Given the description of an element on the screen output the (x, y) to click on. 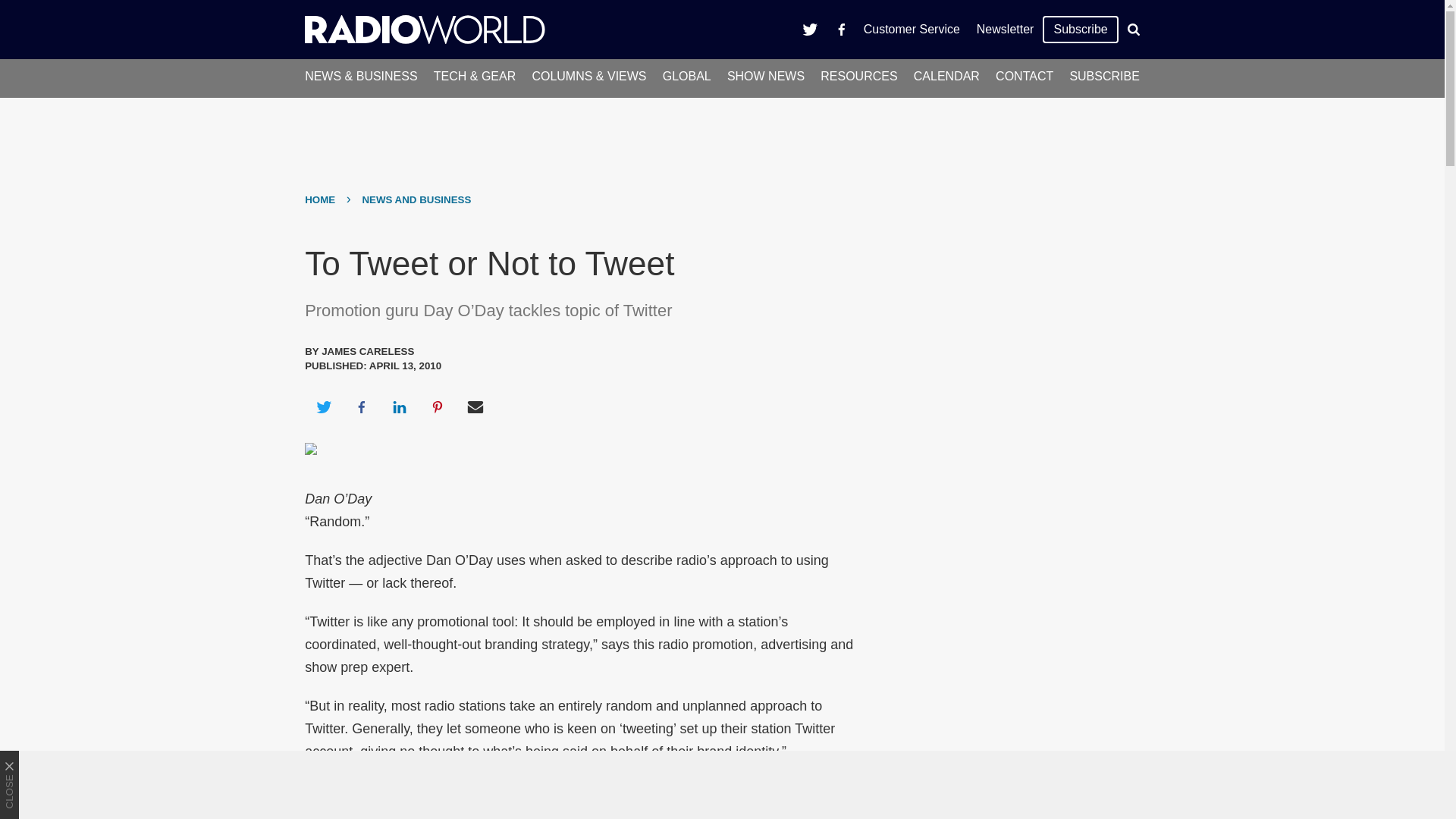
Share on Pinterest (438, 406)
Share on LinkedIn (399, 406)
Customer Service (912, 29)
Share on Facebook (361, 406)
Share on Twitter (323, 406)
Share via Email (476, 406)
